Given the description of an element on the screen output the (x, y) to click on. 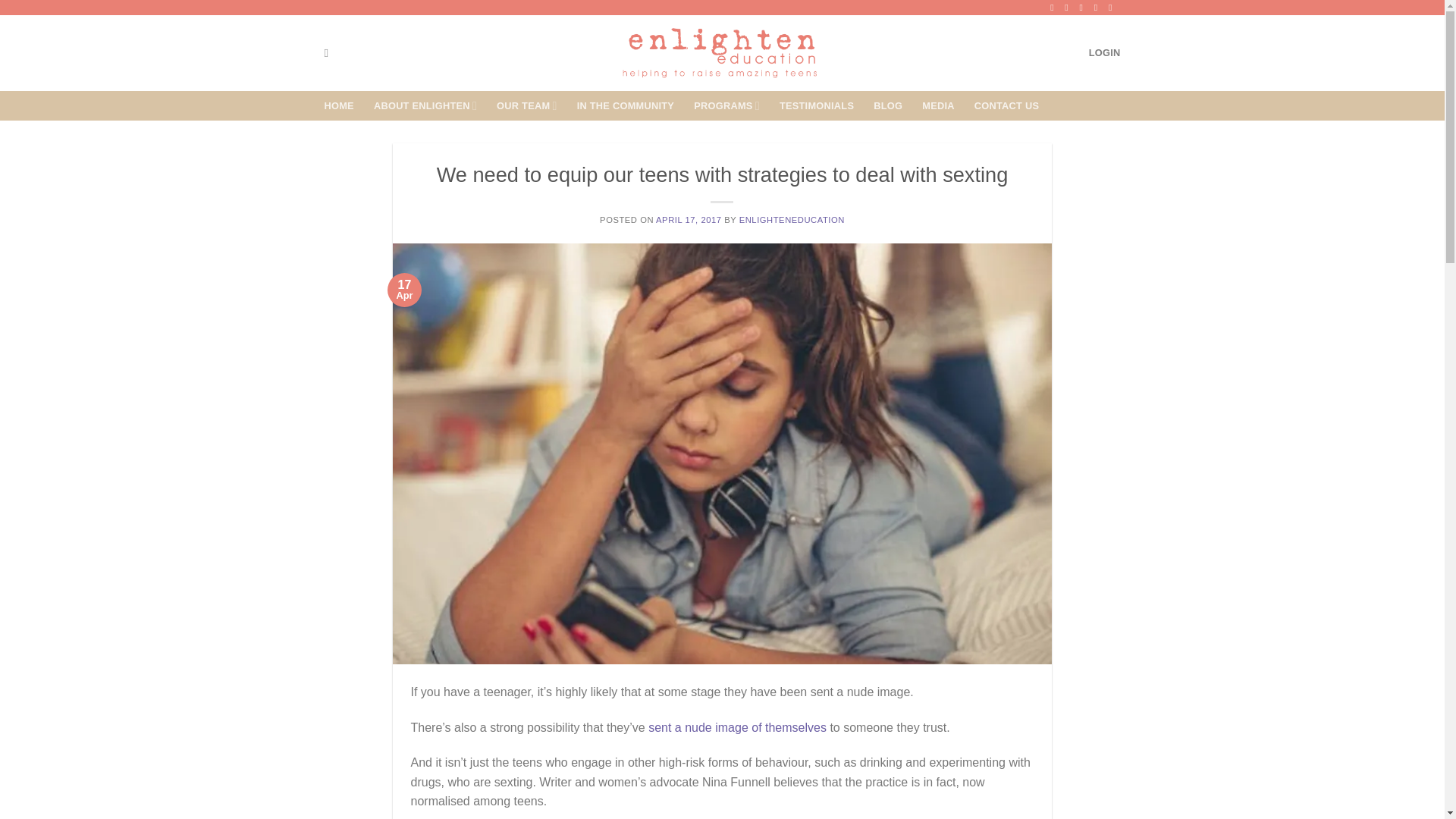
OUR TEAM (526, 105)
LOGIN (1105, 52)
ABOUT ENLIGHTEN (425, 105)
HOME (338, 105)
IN THE COMMUNITY (625, 105)
Login (1105, 52)
PROGRAMS (727, 105)
